Given the description of an element on the screen output the (x, y) to click on. 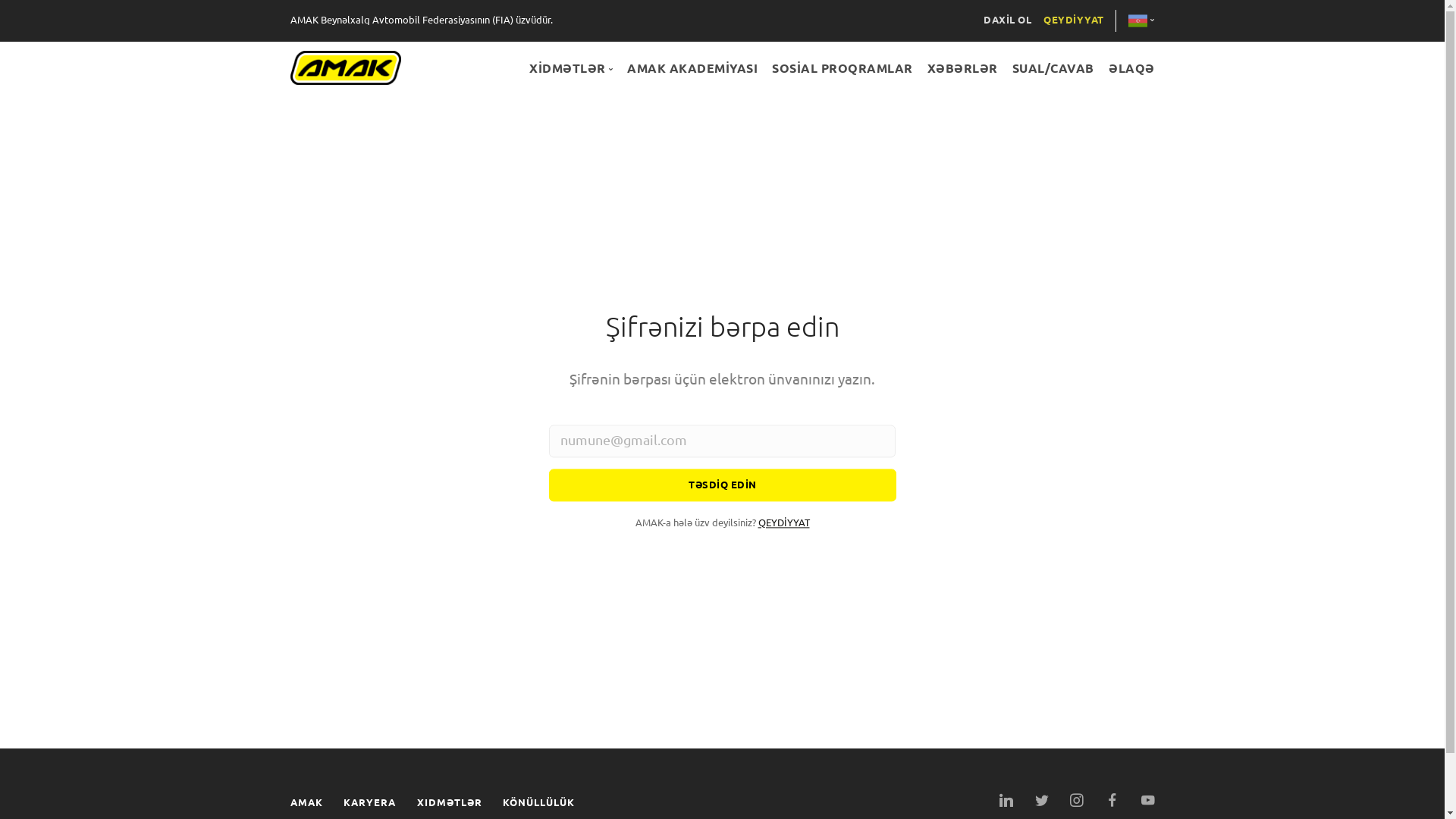
SUAL/CAVAB Element type: text (1053, 68)
KARYERA Element type: text (369, 802)
AMAK Element type: text (305, 802)
